Given the description of an element on the screen output the (x, y) to click on. 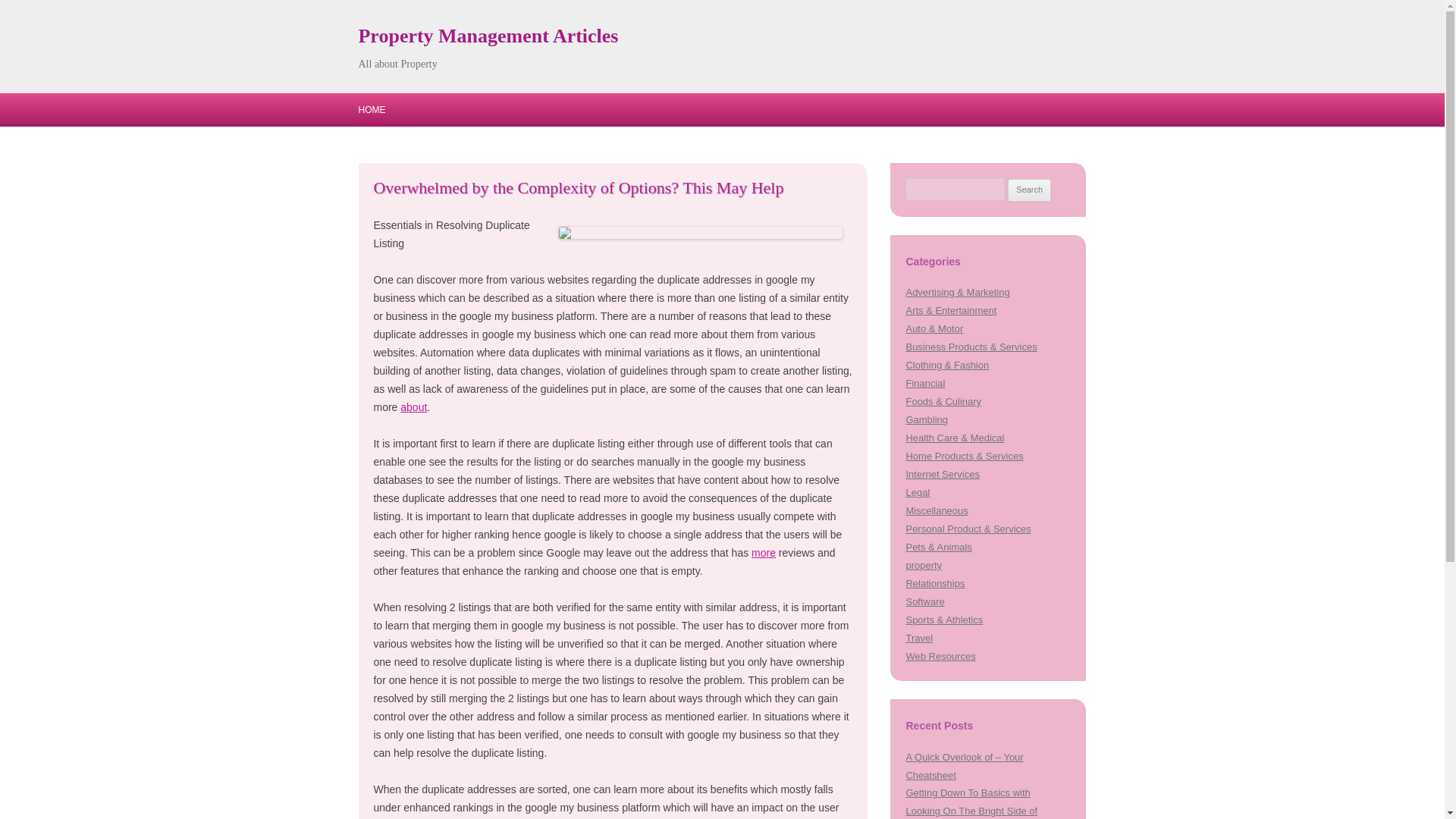
Getting Down To Basics with (967, 792)
Relationships (934, 583)
Search (1029, 190)
about (413, 407)
Web Resources (940, 655)
Gambling (926, 419)
Software (924, 601)
Property Management Articles (487, 36)
